Given the description of an element on the screen output the (x, y) to click on. 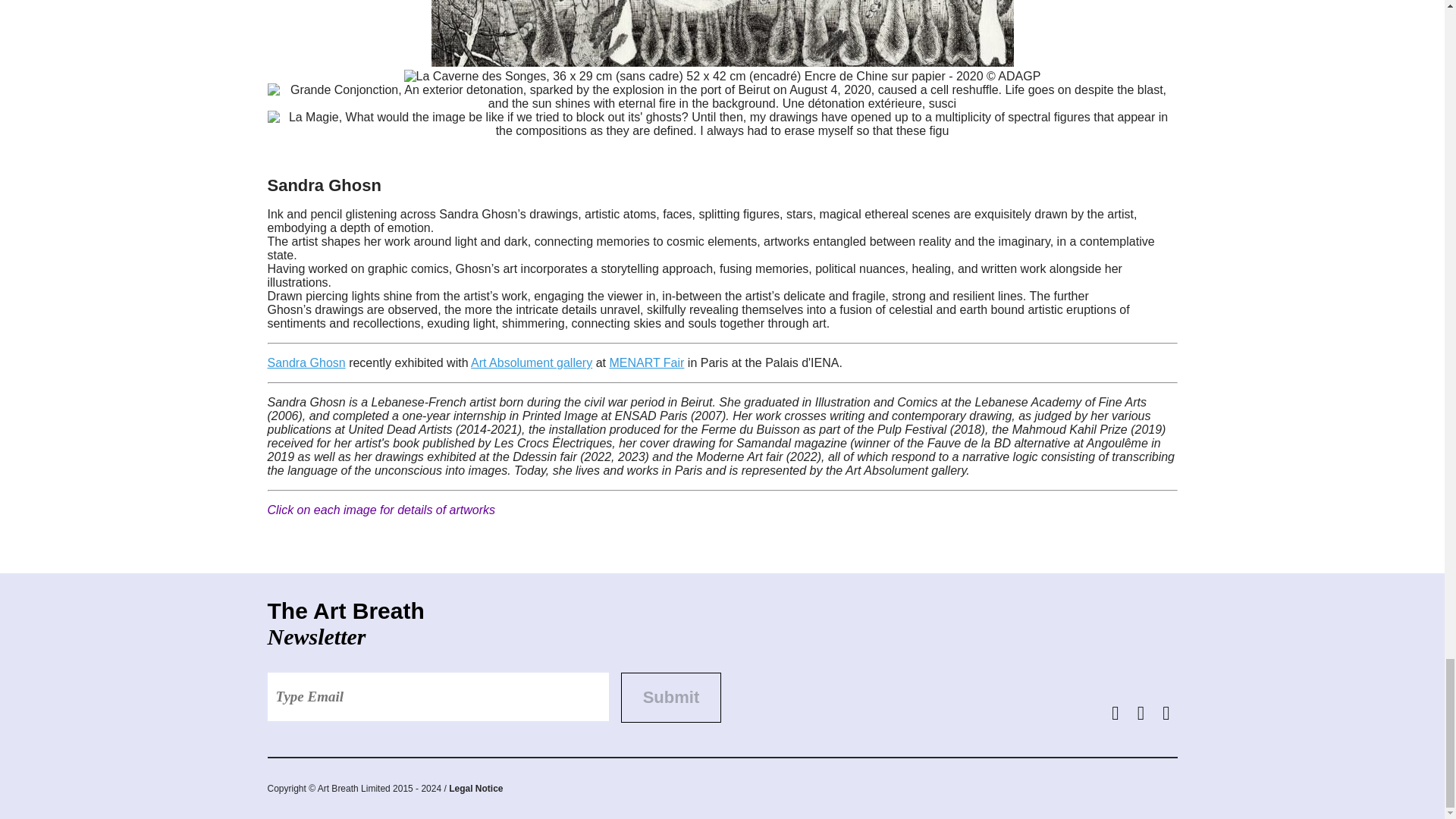
Submit (670, 697)
Sandra Ghosn (305, 362)
MENART Fair (646, 362)
Submit (670, 697)
Legal Notice (475, 787)
Art Absolument gallery (531, 362)
